Given the description of an element on the screen output the (x, y) to click on. 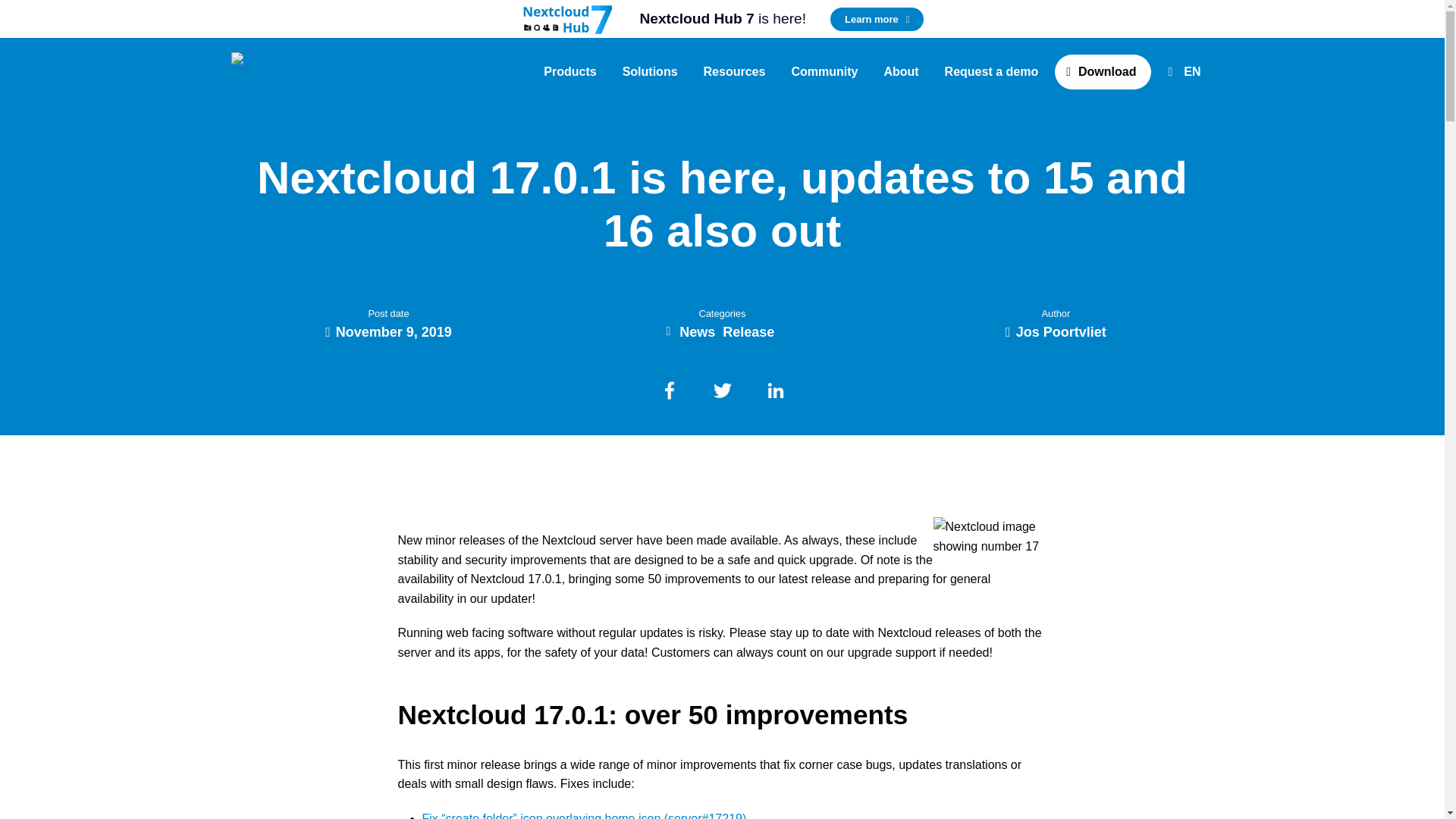
Solutions (649, 71)
Nextcloud Hub 7 is here! (876, 19)
English (1188, 71)
Nextcloud (263, 71)
Solutions (649, 71)
Download (1102, 71)
Nextcloud Hub 7 is here! (722, 19)
Products (569, 71)
Nextcloud Hub 7 is here! (722, 19)
Resources (734, 71)
Products (569, 71)
Nextcloud Hub 7 is here! (568, 18)
Community (823, 71)
Learn more (876, 19)
